Given the description of an element on the screen output the (x, y) to click on. 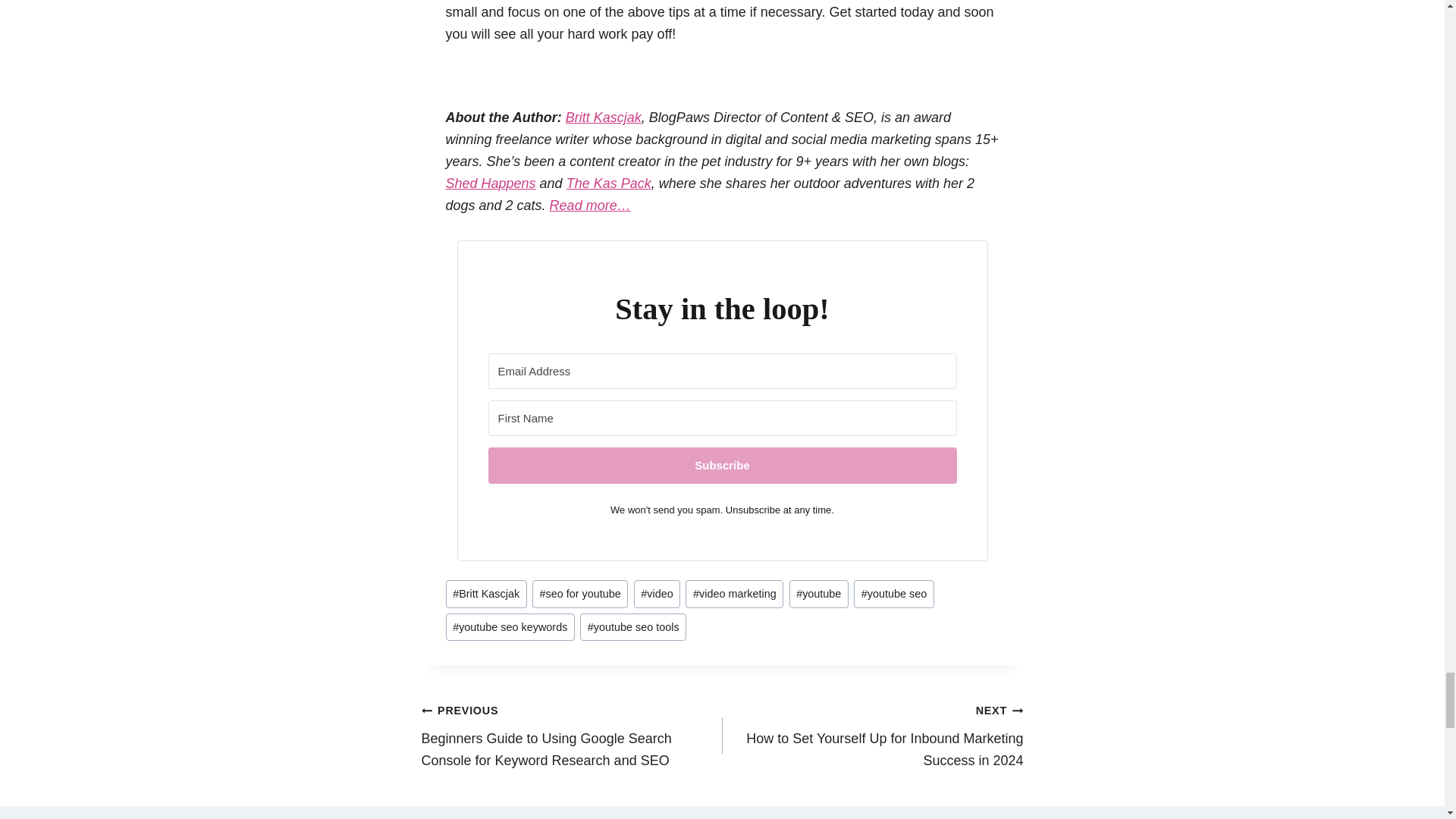
seo for youtube (579, 593)
youtube seo (893, 593)
youtube (818, 593)
video (657, 593)
Britt Kascjak (486, 593)
video marketing (734, 593)
youtube seo tools (632, 627)
youtube seo keywords (510, 627)
